Given the description of an element on the screen output the (x, y) to click on. 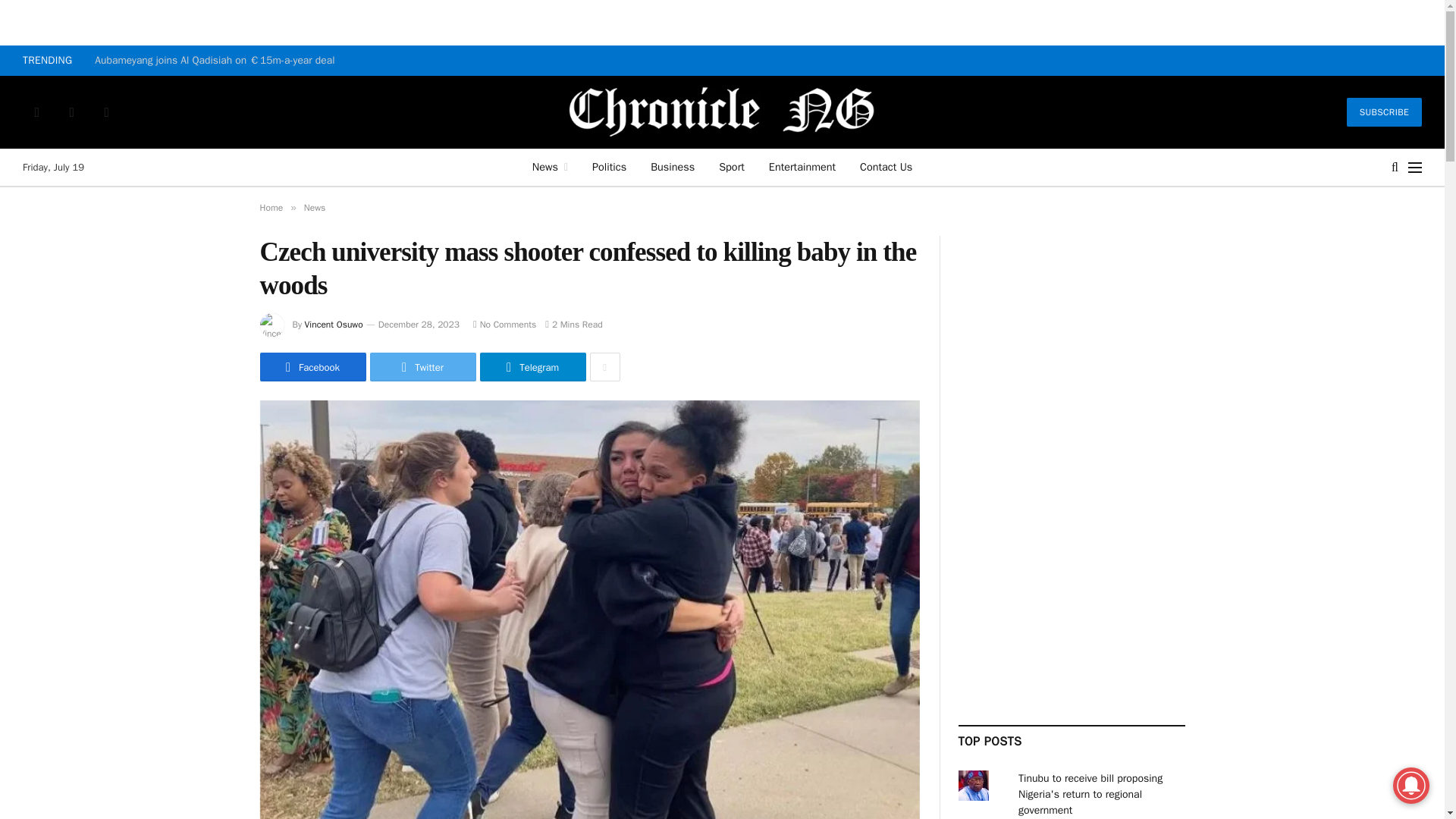
Posts by Vincent Osuwo (333, 324)
News (549, 167)
Facebook (36, 112)
News (315, 207)
Search (1394, 166)
Politics (609, 167)
SUBSCRIBE (1384, 111)
Instagram (106, 112)
Entertainment (802, 167)
Chronicle.ng (722, 112)
Home (270, 207)
Sport (731, 167)
Vincent Osuwo (333, 324)
Contact Us (885, 167)
Share on Facebook (312, 366)
